Given the description of an element on the screen output the (x, y) to click on. 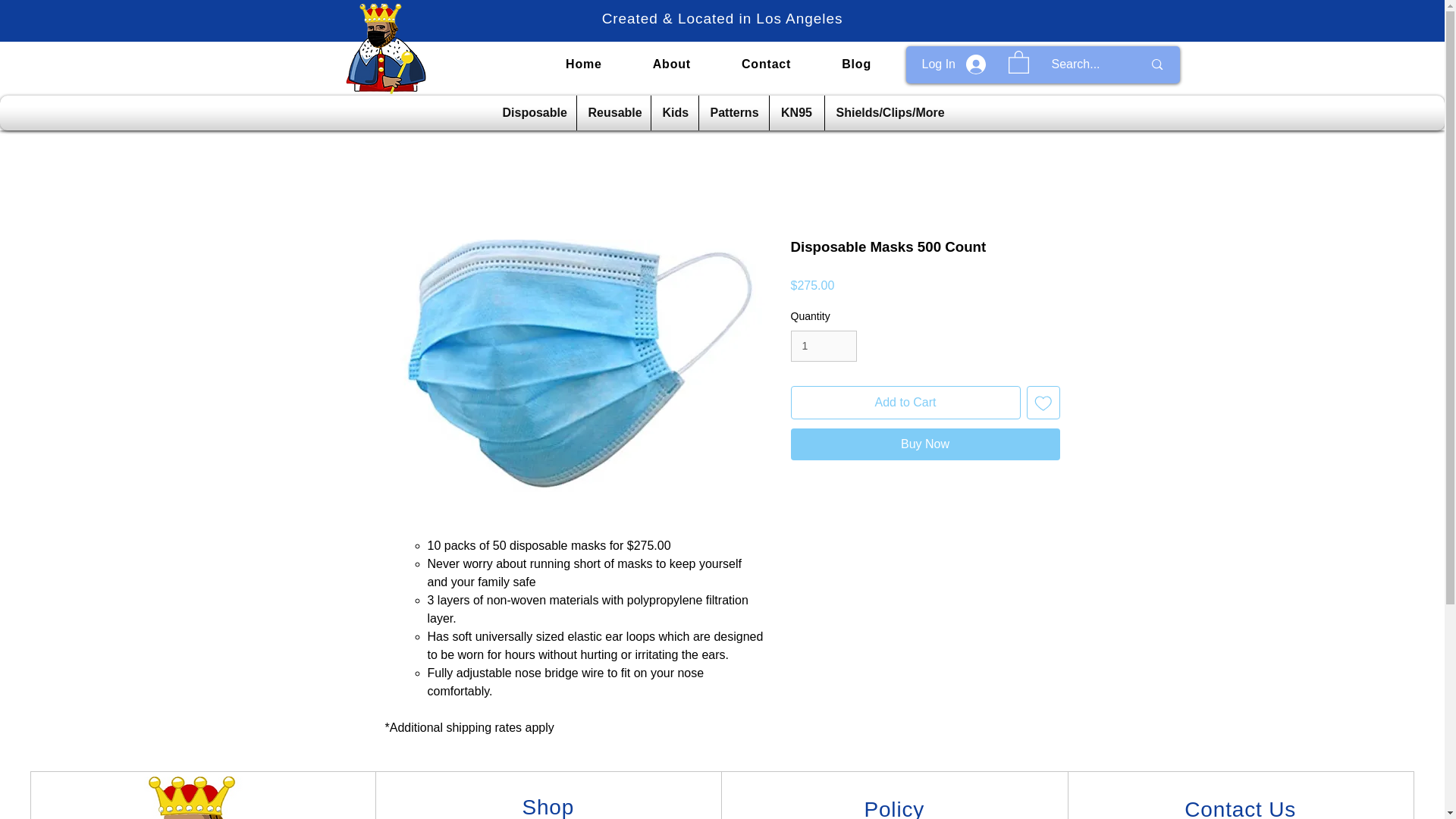
Disposable (533, 112)
Home (583, 63)
Blog (856, 63)
Add to Cart (905, 402)
Reusable (613, 112)
Contact (765, 63)
Buy Now (924, 444)
About (671, 63)
Log In (953, 63)
Kids (674, 112)
Patterns (732, 112)
KN95 (797, 112)
1 (823, 345)
